Given the description of an element on the screen output the (x, y) to click on. 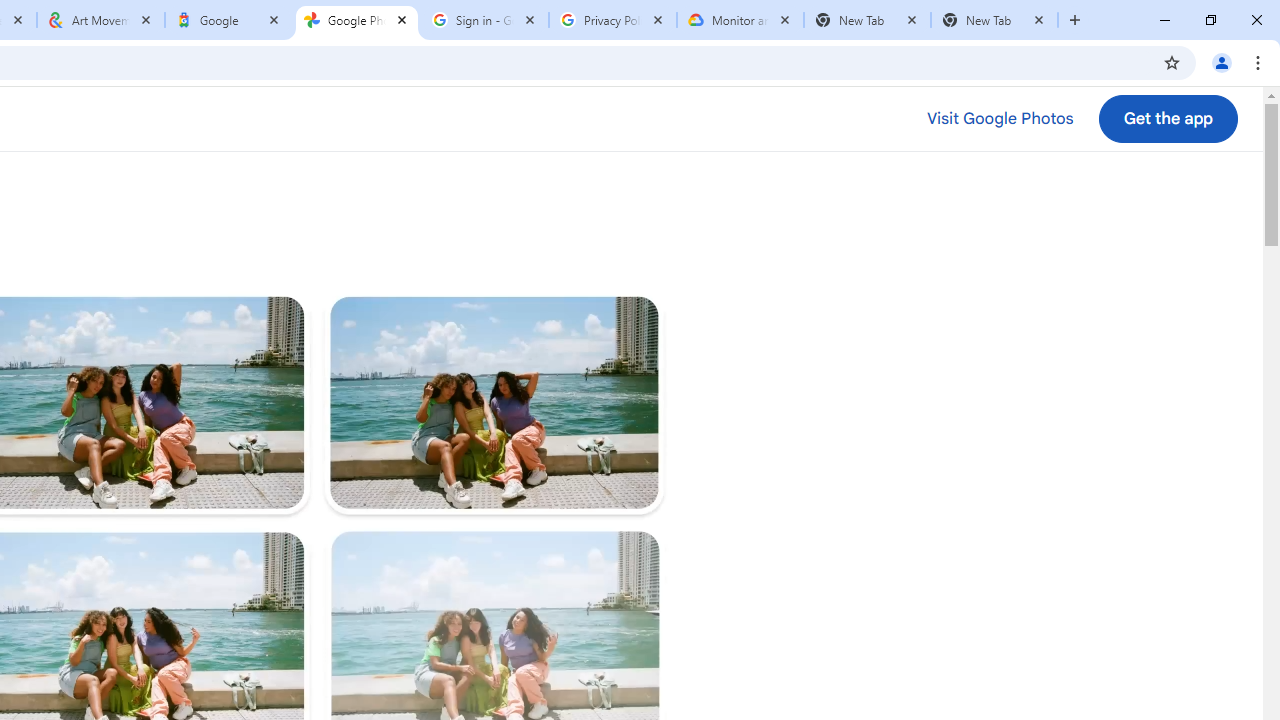
Download the Google Photos app (1167, 119)
